Given the description of an element on the screen output the (x, y) to click on. 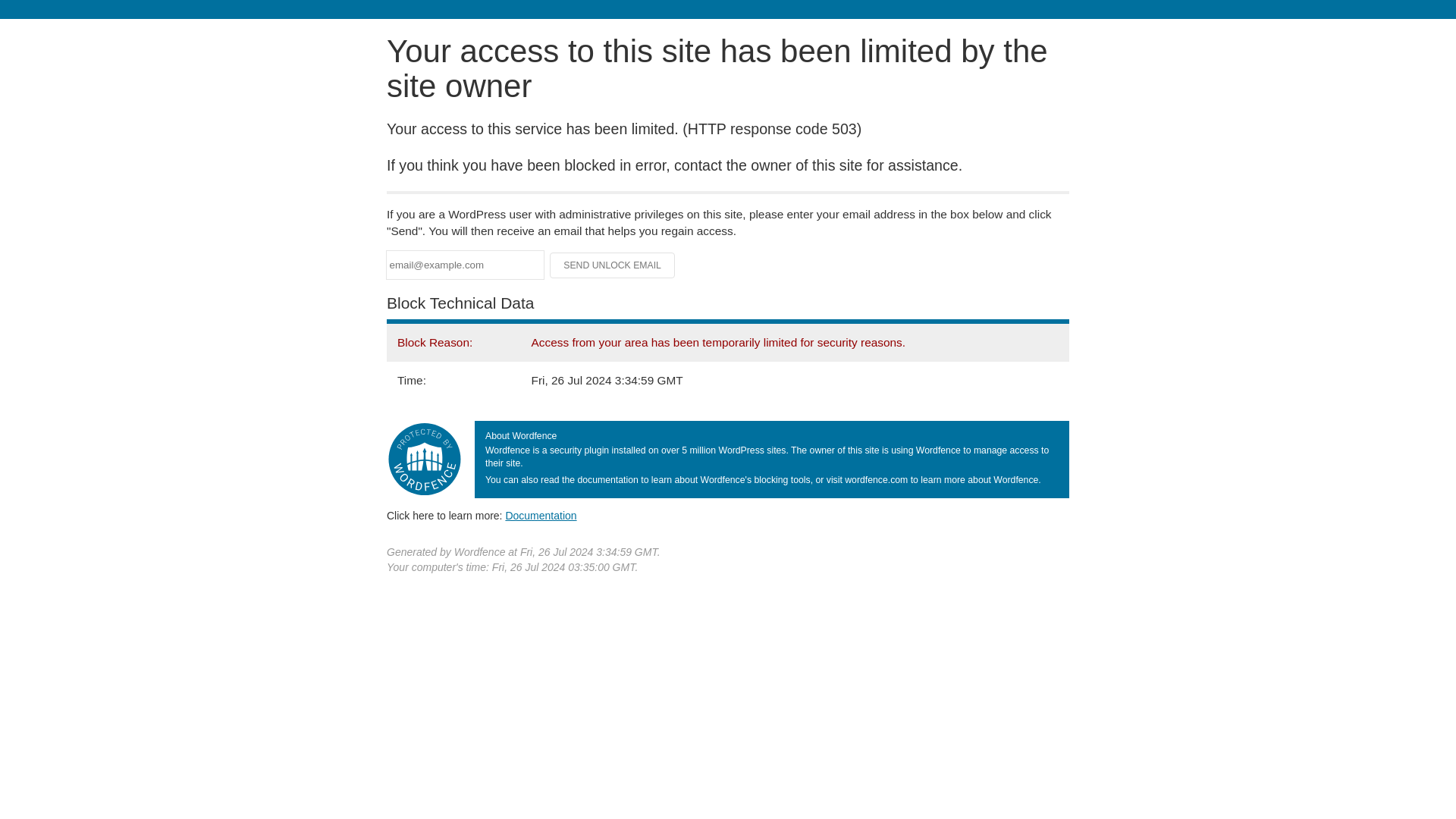
Documentation (540, 515)
Send Unlock Email (612, 265)
Send Unlock Email (612, 265)
